Given the description of an element on the screen output the (x, y) to click on. 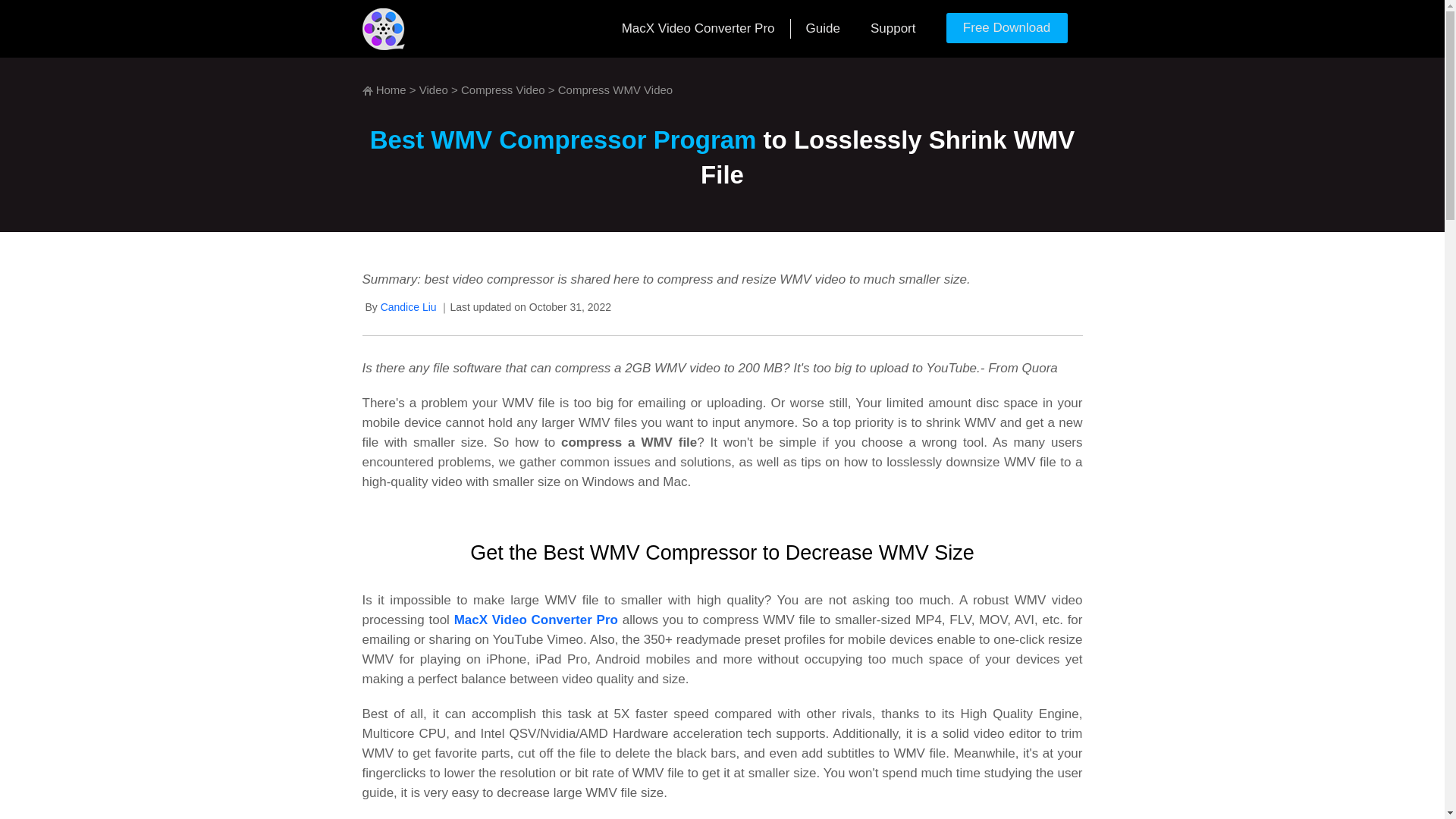
MacX Video Converter Pro (535, 619)
Candice Liu (408, 306)
Free Download (1006, 33)
Home (390, 89)
MacX Video Converter Pro (697, 28)
Video (433, 89)
Compress Video (502, 89)
Support (892, 28)
Guide (823, 28)
